Given the description of an element on the screen output the (x, y) to click on. 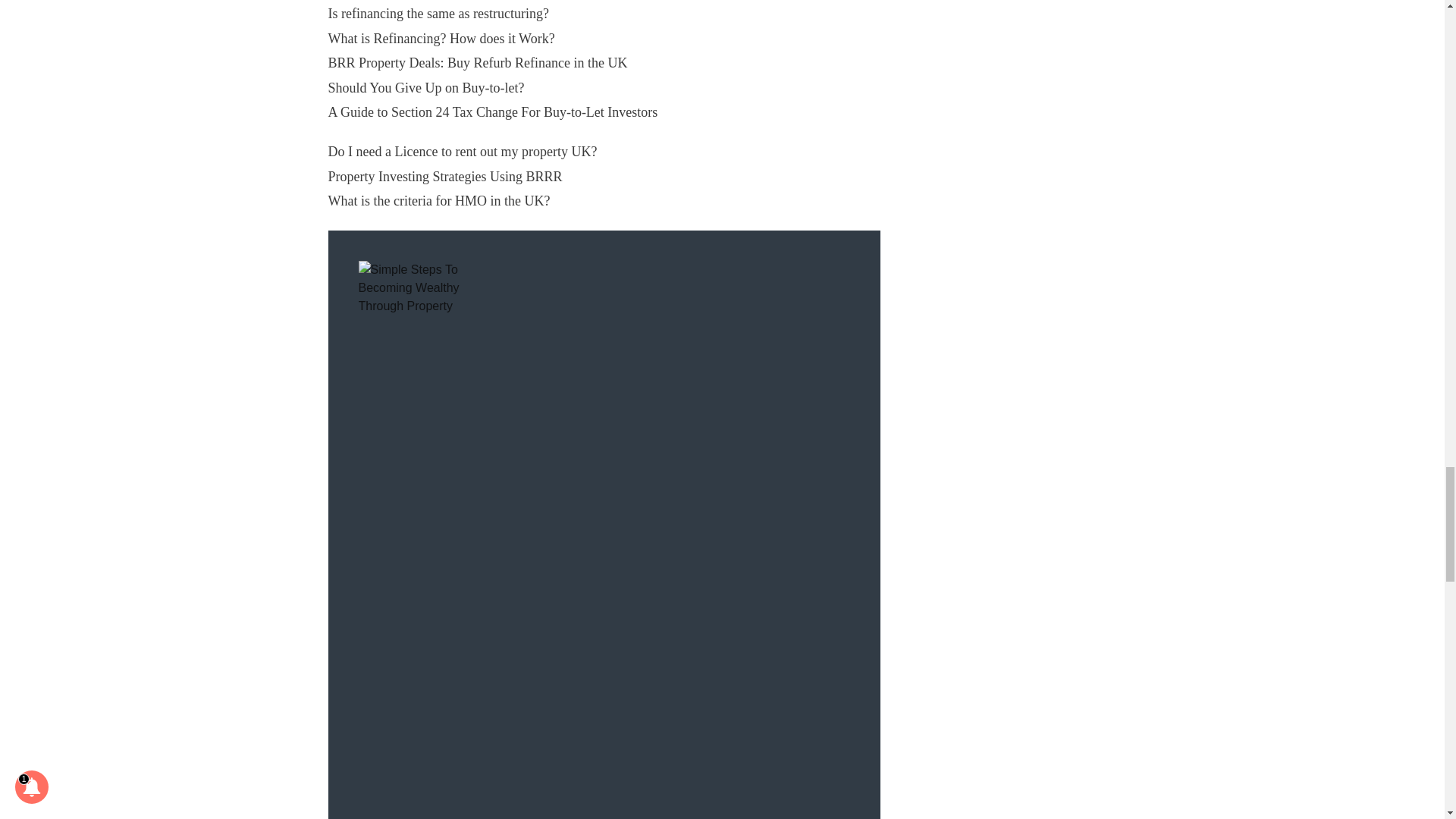
Property Investing Strategies Using BRRR (444, 176)
What is Refinancing? How does it Work? (440, 38)
What is the criteria for HMO in the UK? (438, 200)
Is refinancing the same as restructuring? (437, 13)
Should You Give Up on Buy-to-let? (425, 87)
Do I need a Licence to rent out my property UK? (461, 151)
A Guide to Section 24 Tax Change For Buy-to-Let Investors (492, 111)
BRR Property Deals: Buy Refurb Refinance in the UK (477, 62)
